Given the description of an element on the screen output the (x, y) to click on. 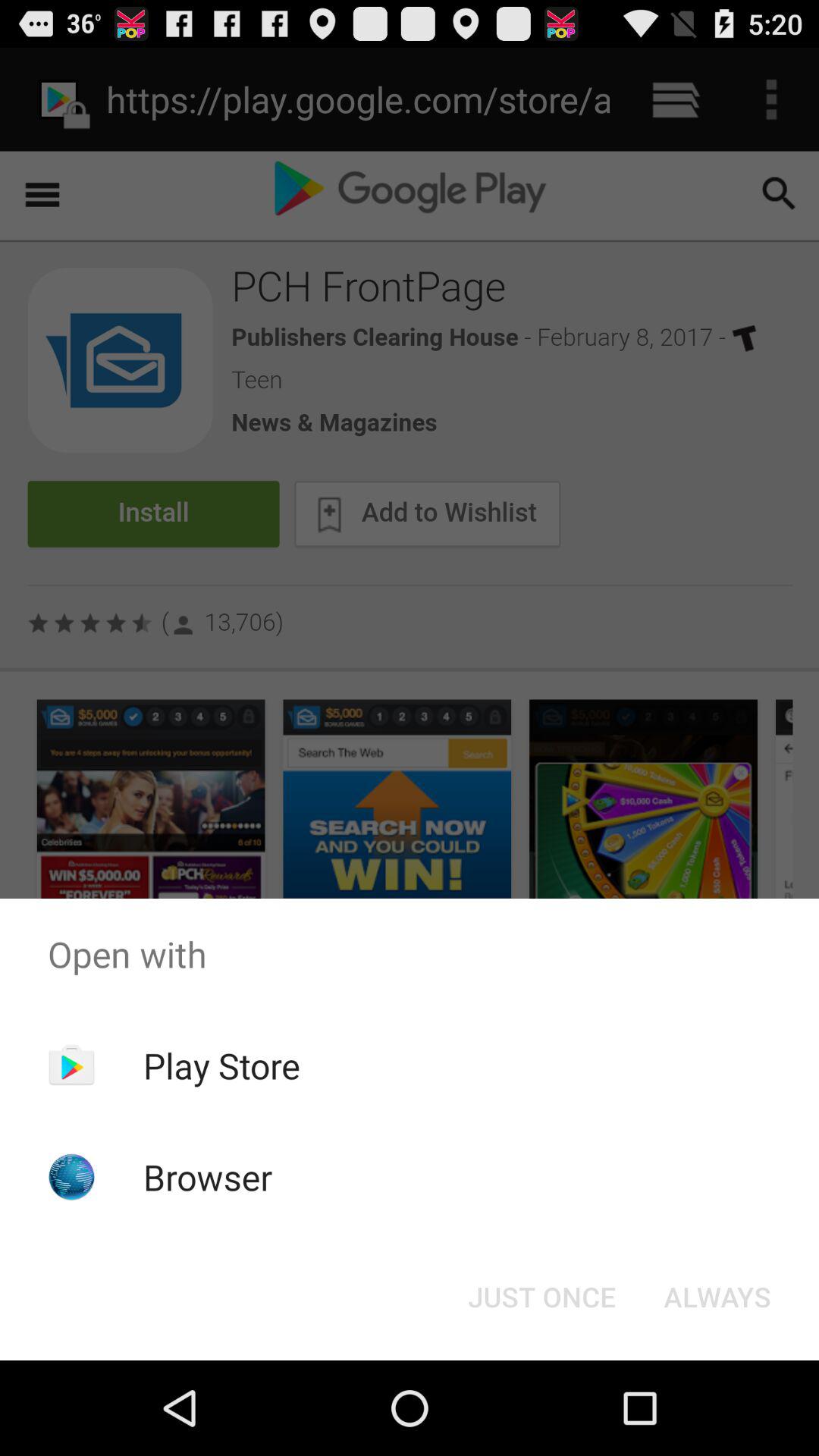
press the browser (207, 1176)
